Given the description of an element on the screen output the (x, y) to click on. 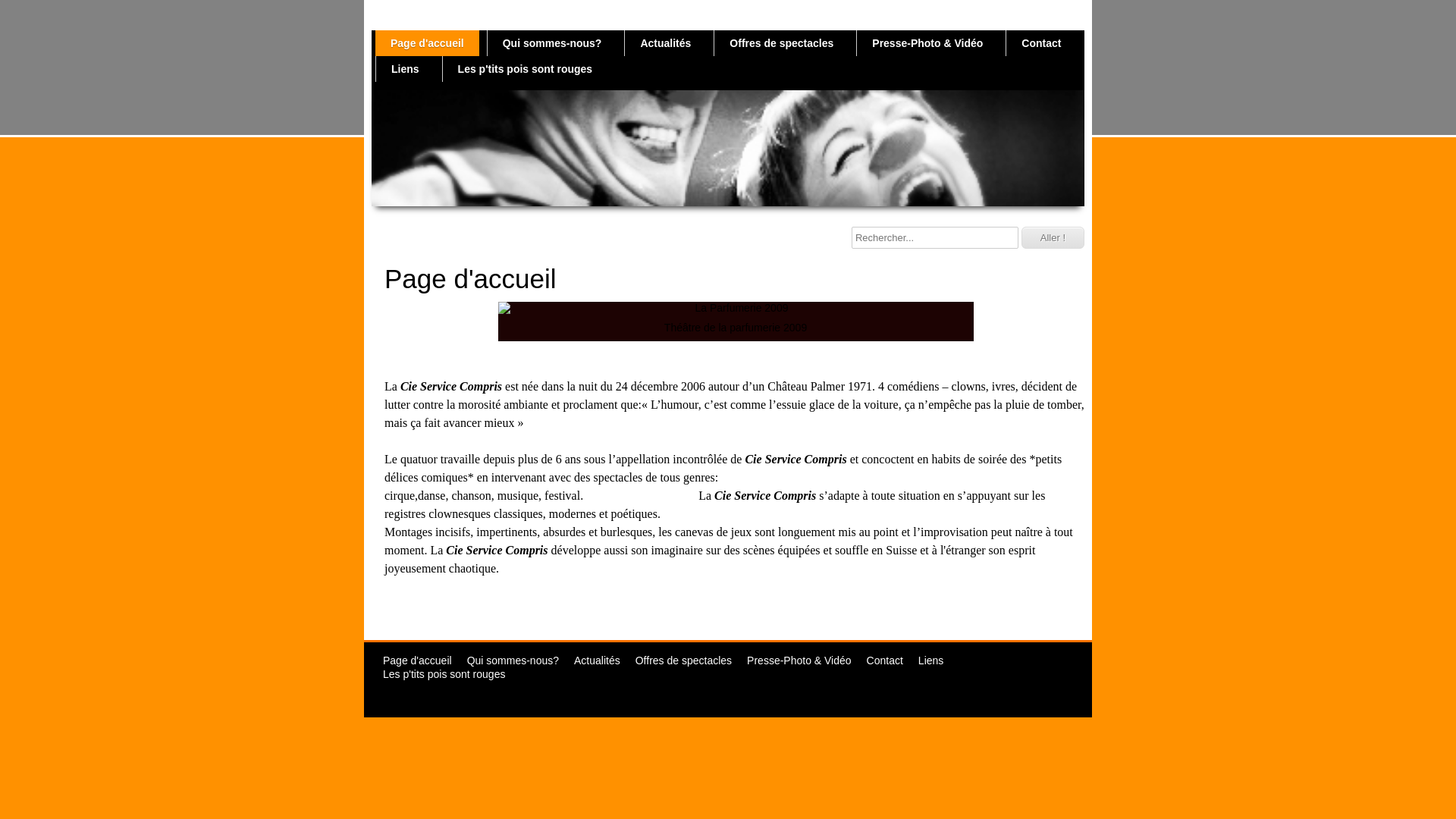
Contact Element type: text (884, 660)
Page d'accueil Element type: text (416, 660)
Liens Element type: text (930, 660)
Offres de spectacles Element type: text (683, 660)
Qui sommes-nous? Element type: text (512, 660)
Page d'accueil Element type: text (427, 43)
Qui sommes-nous? Element type: text (552, 43)
Contact Element type: text (1041, 43)
Offres de spectacles Element type: text (781, 43)
Les p'tits pois sont rouges Element type: text (443, 674)
Les p'tits pois sont rouges Element type: text (525, 68)
Liens Element type: text (405, 68)
